Given the description of an element on the screen output the (x, y) to click on. 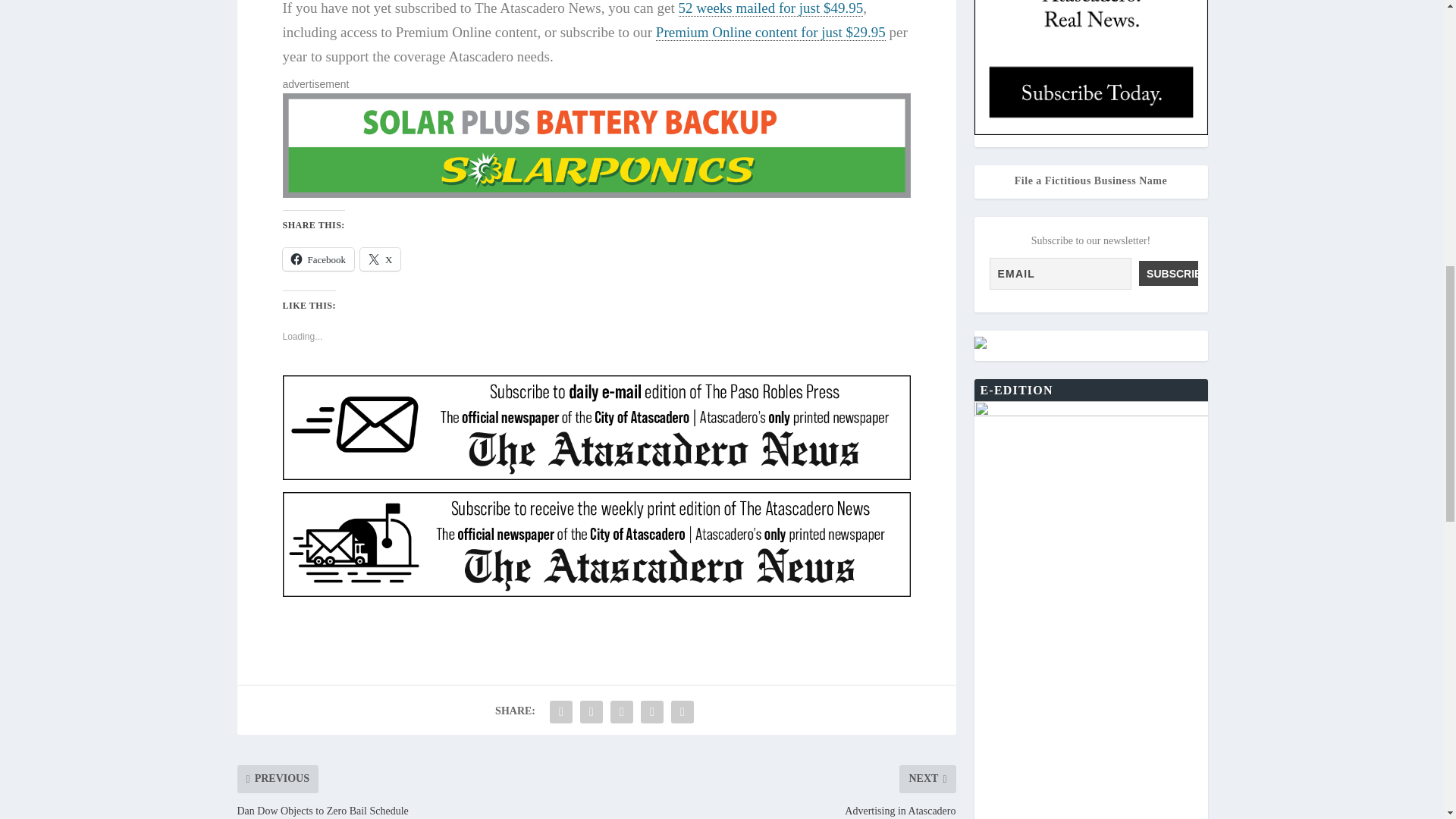
Facebook (317, 259)
Share "Support Your Local Community!" via Print (681, 711)
Click to share on Facebook (317, 259)
Share "Support Your Local Community!" via LinkedIn (622, 711)
Share "Support Your Local Community!" via Facebook (561, 711)
Click to share on X (379, 259)
X (379, 259)
Share "Support Your Local Community!" via Twitter (591, 711)
Subscribe (1168, 273)
Share "Support Your Local Community!" via Email (651, 711)
